Given the description of an element on the screen output the (x, y) to click on. 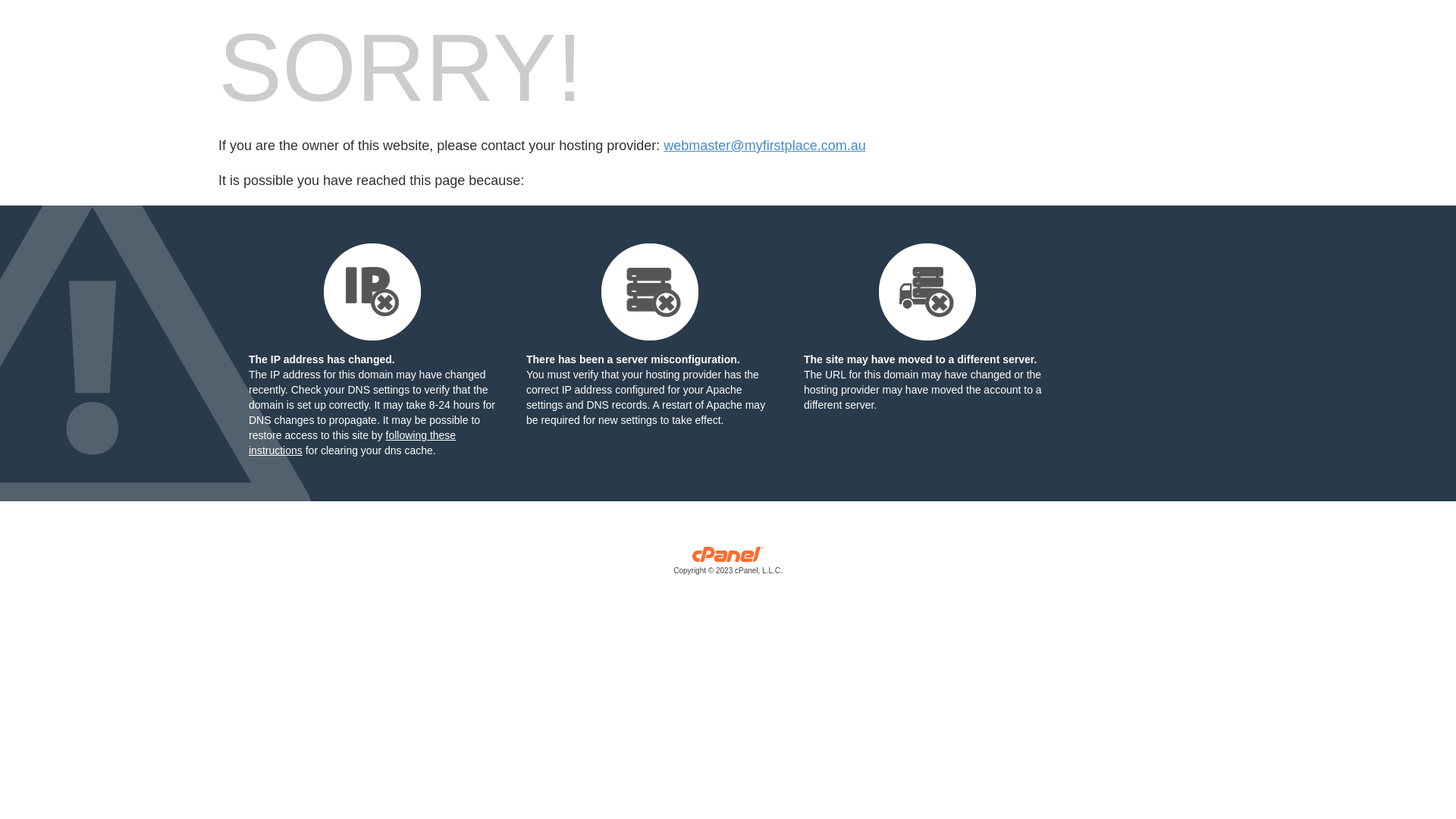
following these instructions Element type: text (351, 442)
webmaster@myfirstplace.com.au Element type: text (764, 145)
